Given the description of an element on the screen output the (x, y) to click on. 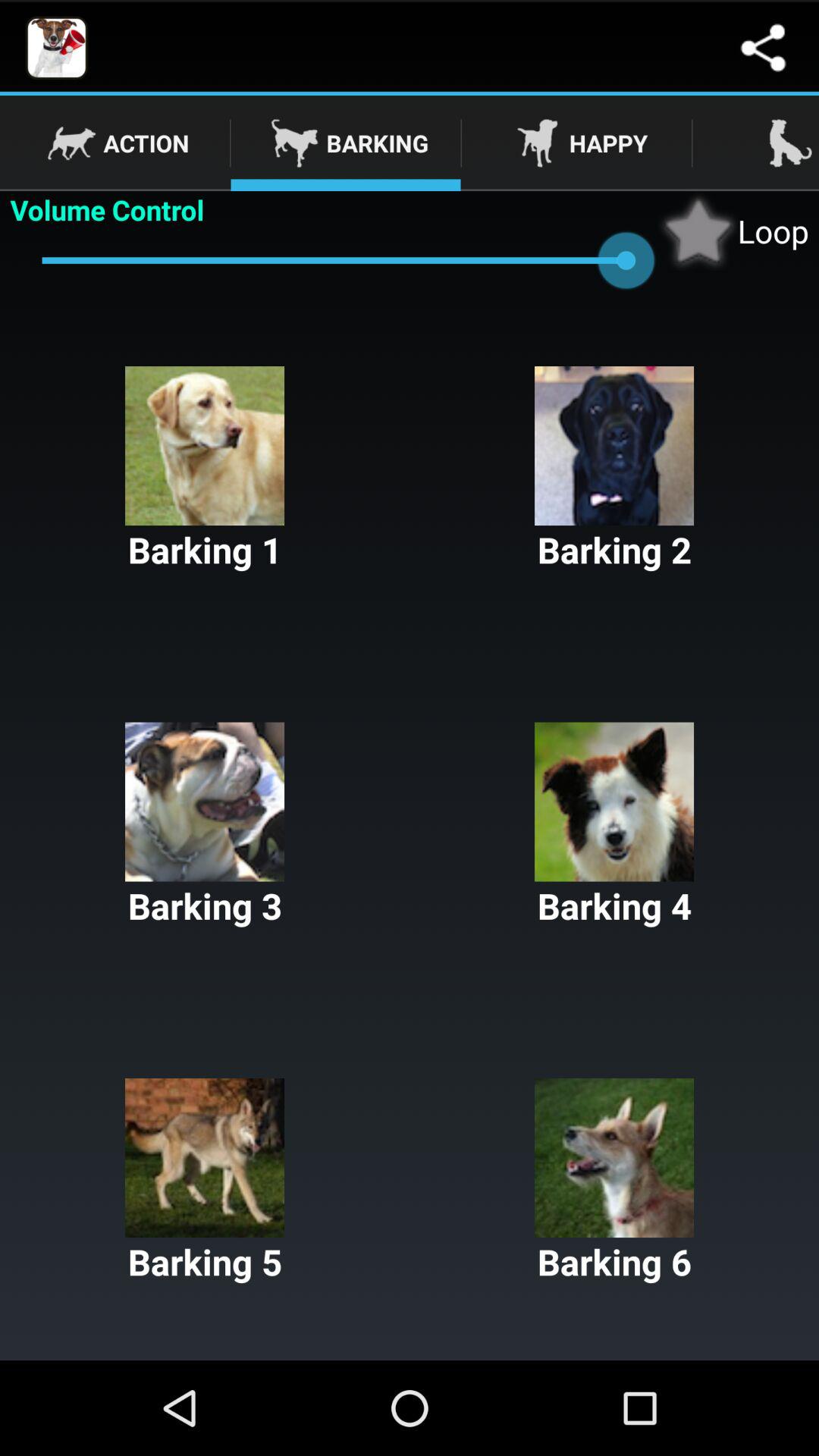
turn off the icon to the right of barking 1 button (614, 469)
